Given the description of an element on the screen output the (x, y) to click on. 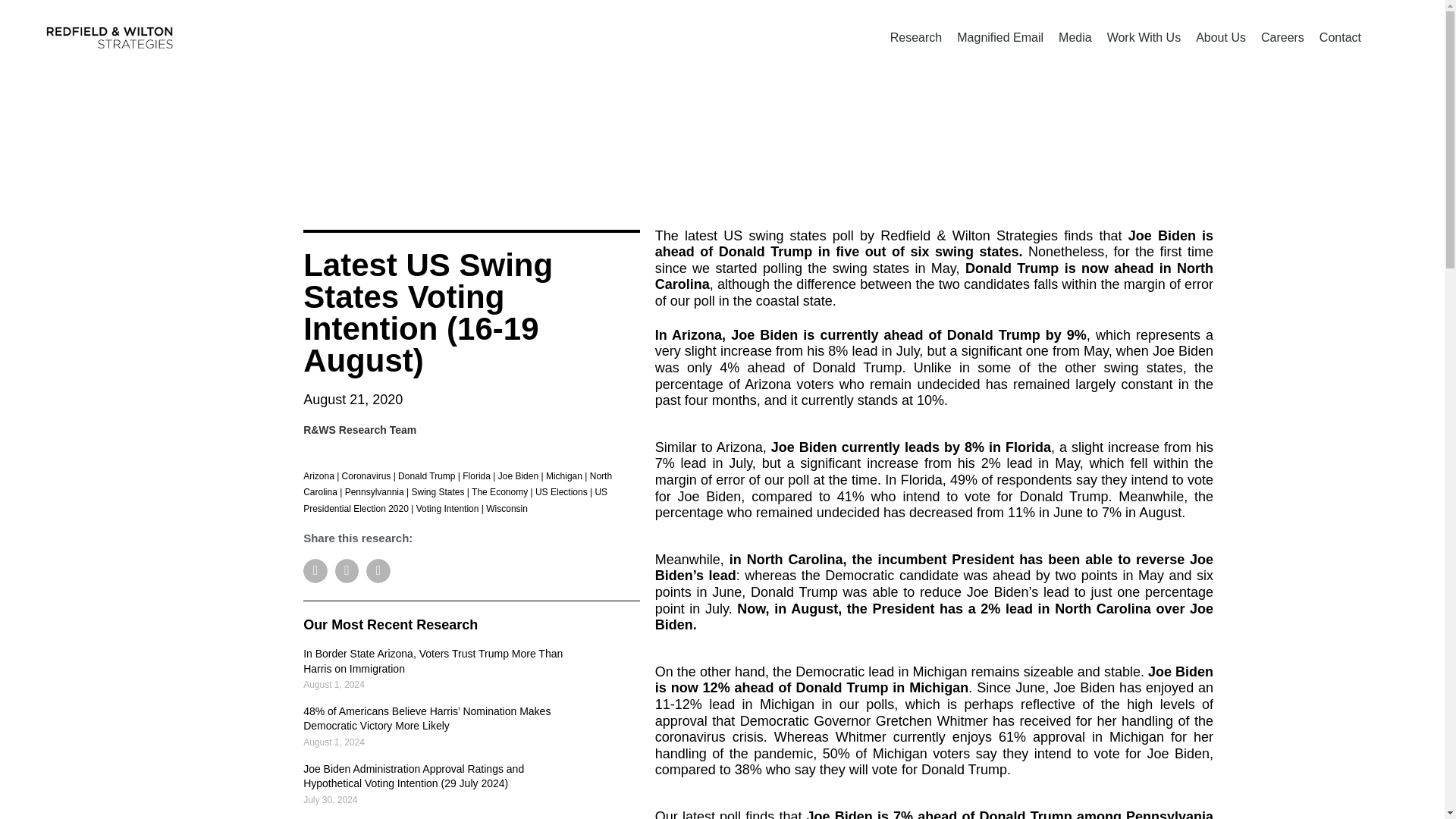
Magnified Email (1000, 38)
Work With Us (1143, 38)
